Given the description of an element on the screen output the (x, y) to click on. 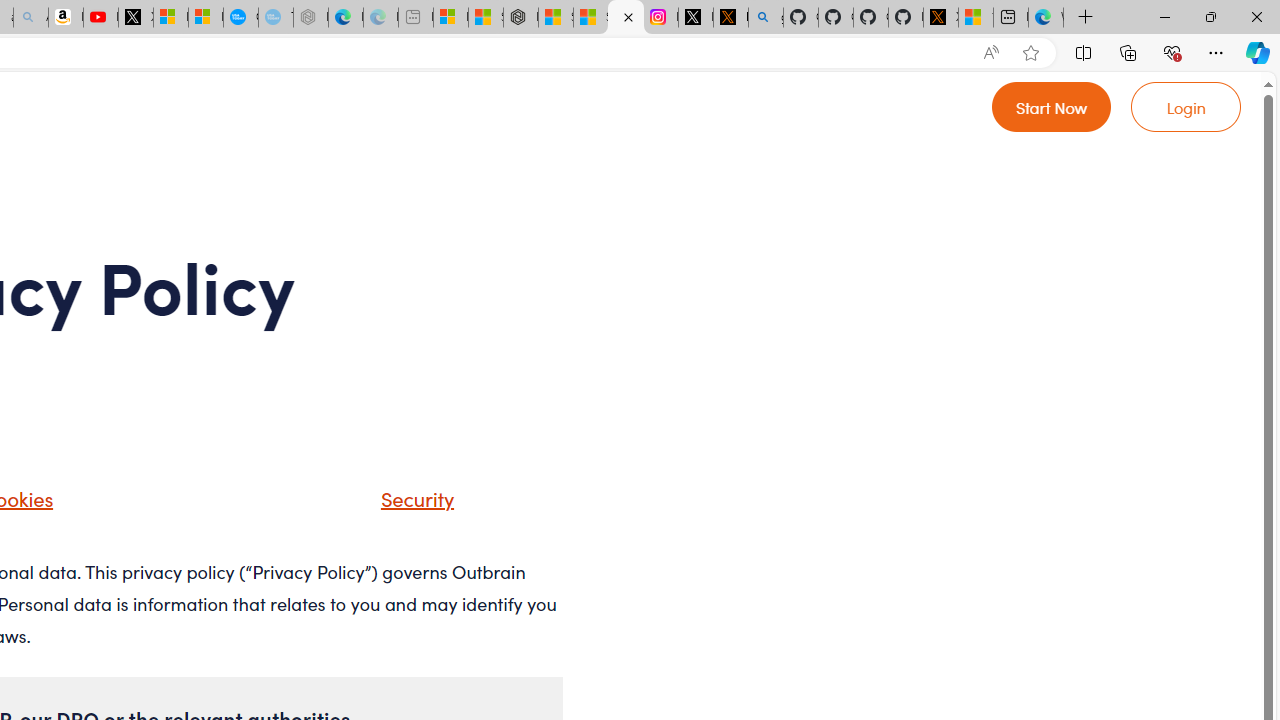
Opinion: Op-Ed and Commentary - USA TODAY (241, 17)
github - Search (765, 17)
Day 1: Arriving in Yemen (surreal to be here) - YouTube (100, 17)
